Given the description of an element on the screen output the (x, y) to click on. 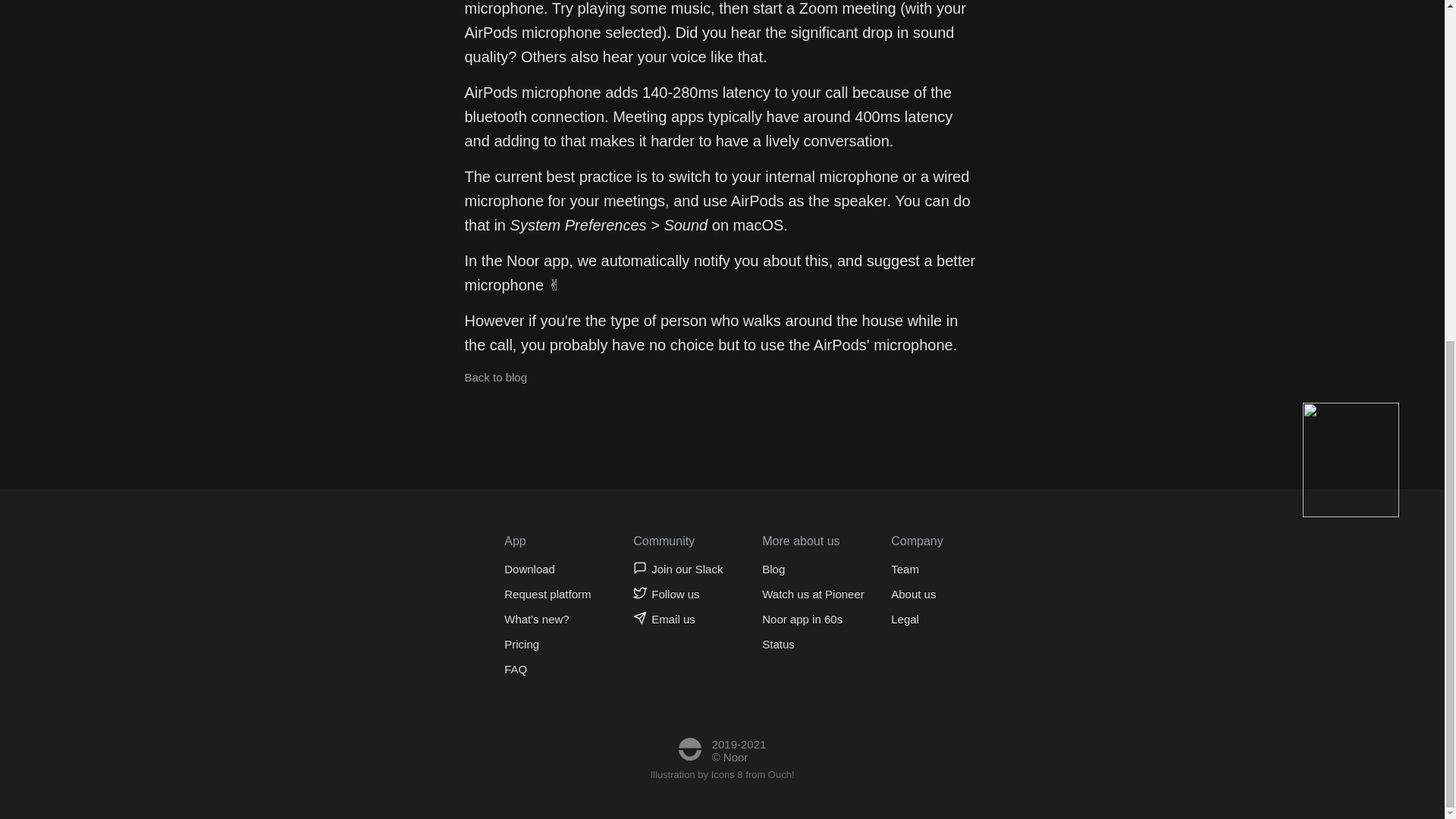
FAQ (547, 668)
Legal (913, 618)
Request platform (547, 593)
Noor app in 60s (812, 618)
Download (547, 569)
Email us (677, 618)
Status (812, 643)
About us (913, 593)
Watch us at Pioneer (812, 593)
Ouch! (781, 774)
What's new? (547, 618)
Join our Slack (677, 569)
Back to blog (495, 377)
Follow us (677, 593)
Pricing (547, 643)
